Given the description of an element on the screen output the (x, y) to click on. 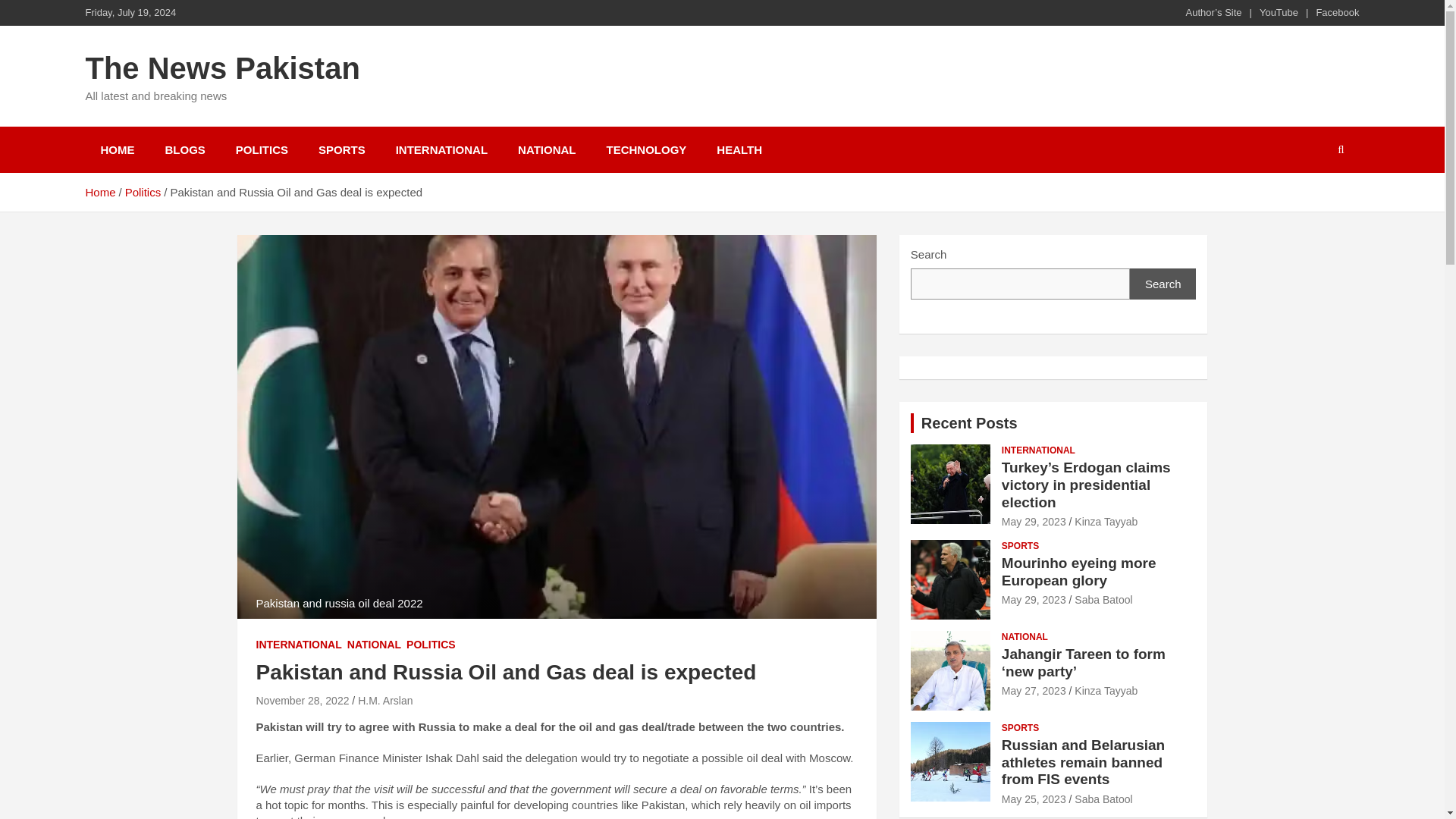
Facebook (1337, 12)
Politics (143, 192)
Pakistan and Russia Oil and Gas deal is expected (302, 700)
POLITICS (261, 149)
Home (99, 192)
BLOGS (185, 149)
Search (1162, 283)
HEALTH (739, 149)
The News Pakistan (221, 68)
INTERNATIONAL (441, 149)
TECHNOLOGY (646, 149)
INTERNATIONAL (299, 645)
NATIONAL (546, 149)
SPORTS (341, 149)
